Given the description of an element on the screen output the (x, y) to click on. 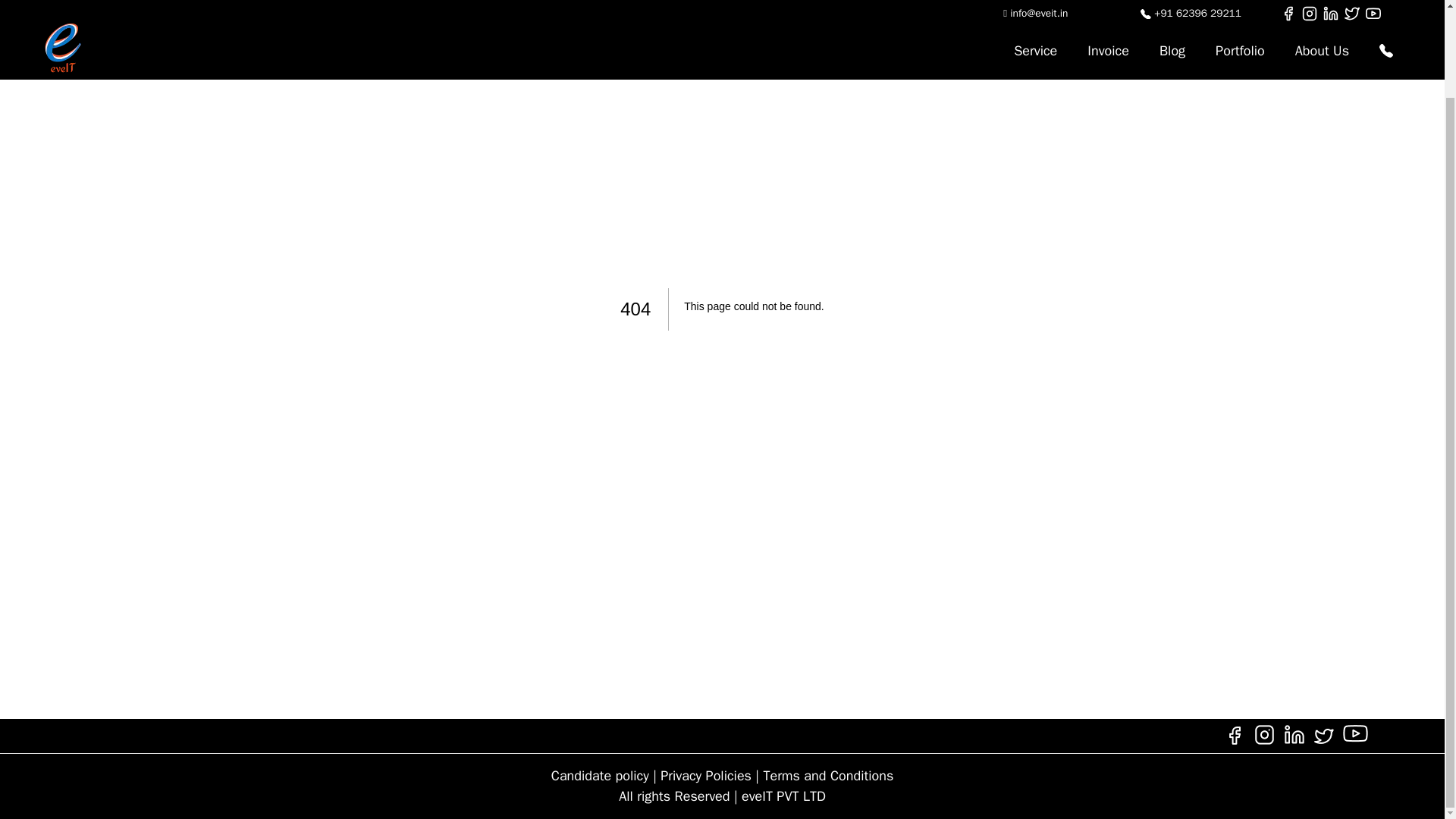
Terms and Conditions (827, 775)
Privacy Policies (705, 775)
